Given the description of an element on the screen output the (x, y) to click on. 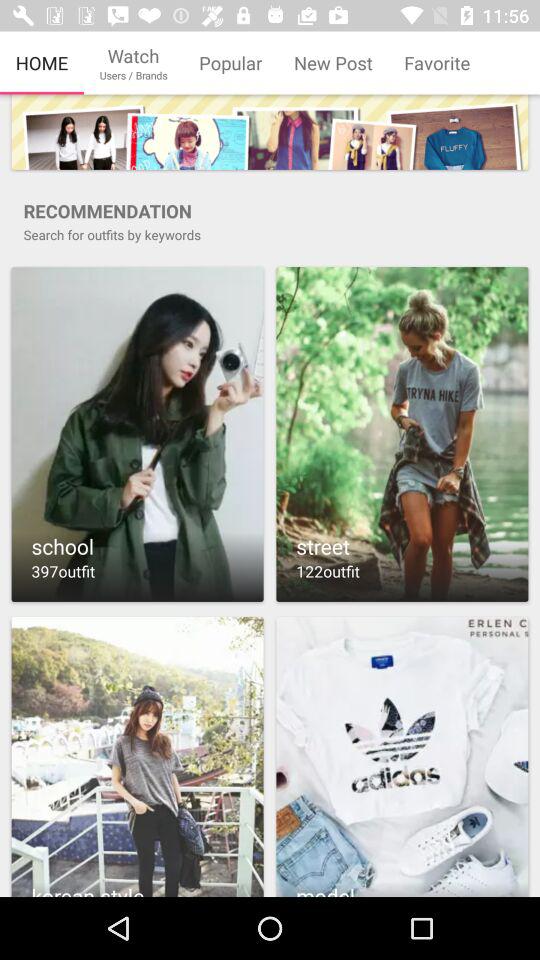
expand image (137, 434)
